Given the description of an element on the screen output the (x, y) to click on. 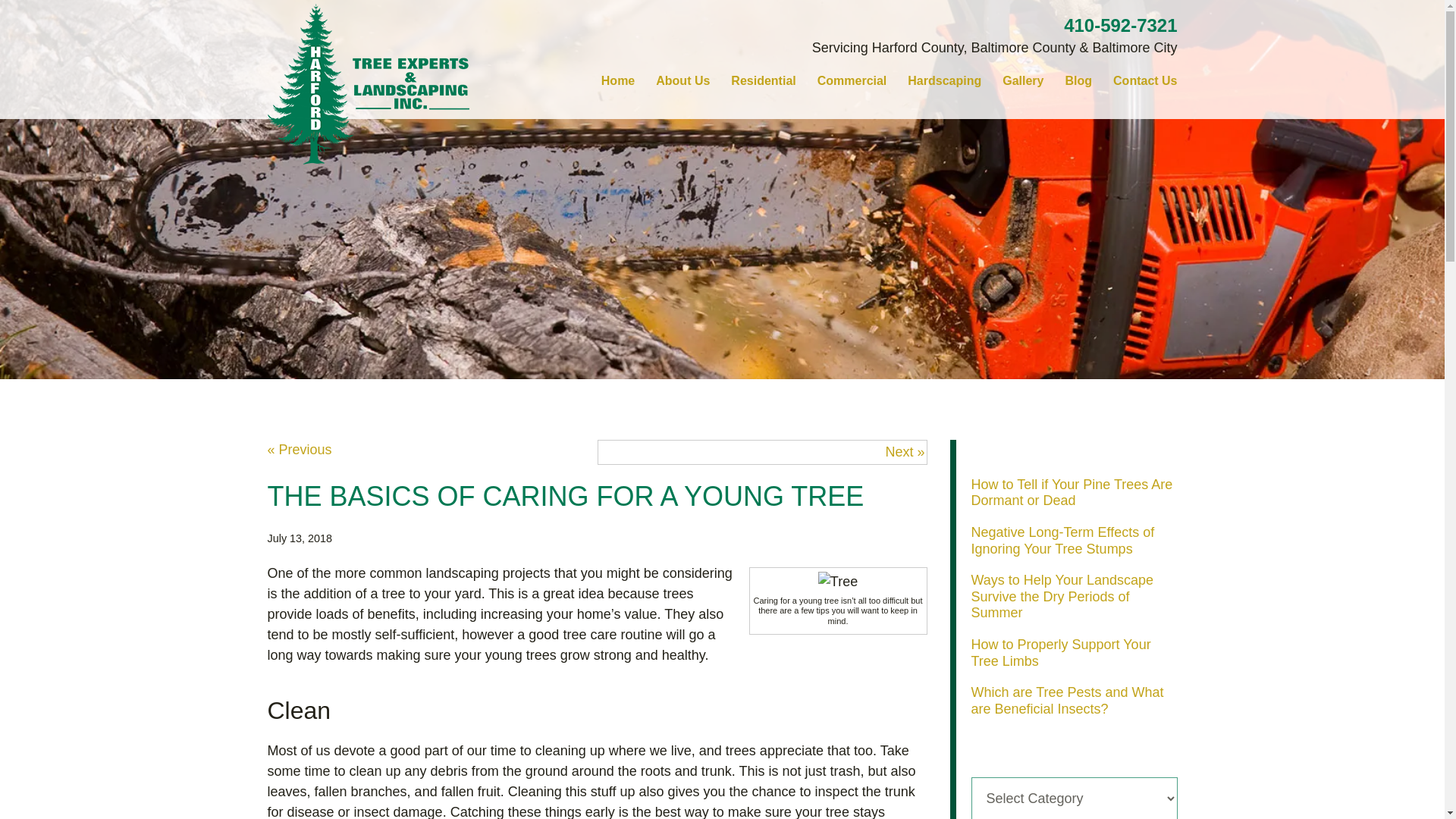
Home (618, 80)
Blog (1078, 80)
Residential (763, 80)
Commercial (852, 80)
About Us (682, 80)
Contact Us (1145, 80)
Gallery (1022, 80)
How to Tell if Your Pine Trees Are Dormant or Dead (1071, 492)
Hardscaping (943, 80)
